Given the description of an element on the screen output the (x, y) to click on. 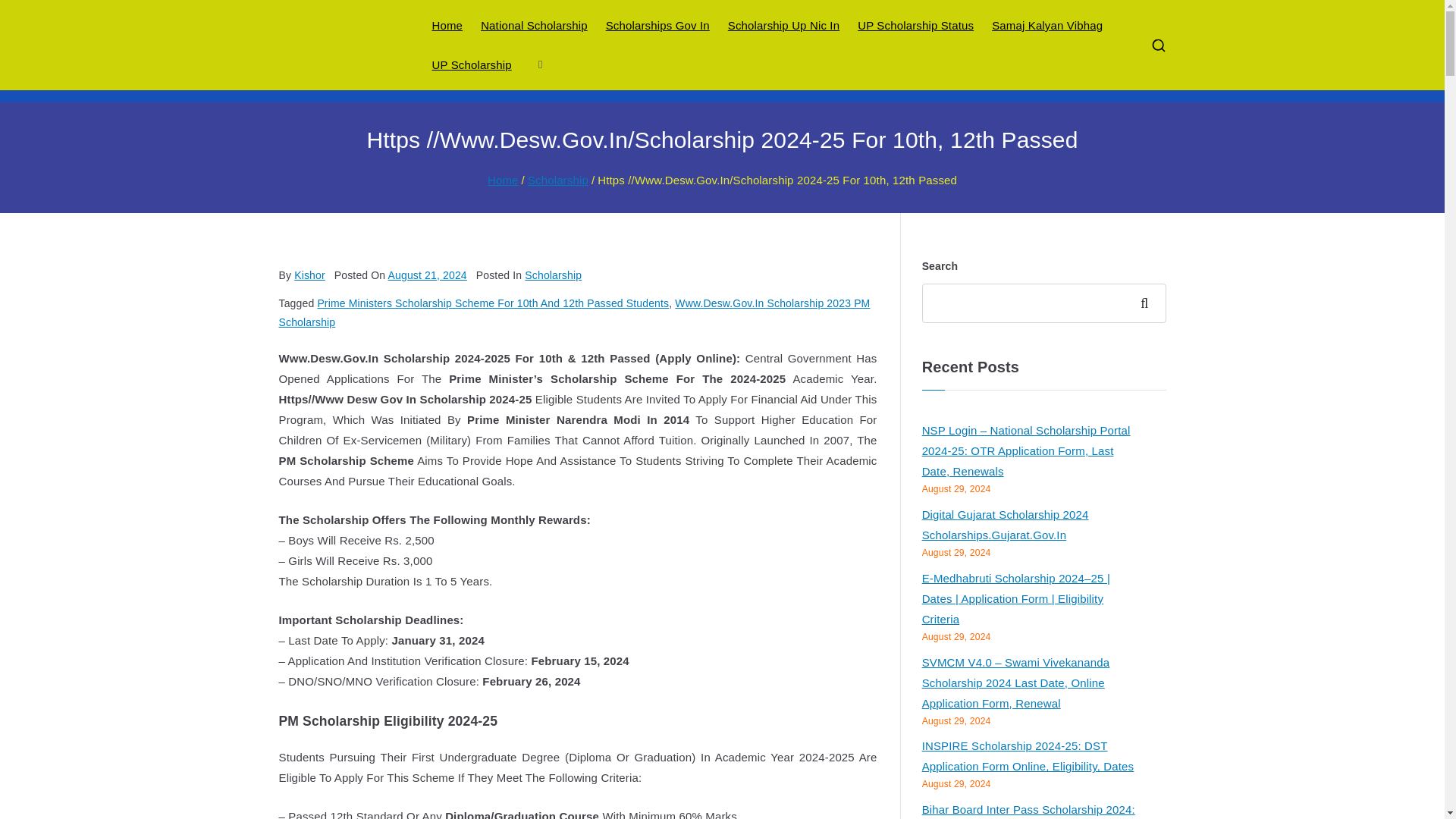
Search (25, 12)
Scholarship Up Nic In (784, 25)
UP Scholarship Status (915, 25)
August 21, 2024 (427, 275)
Home (447, 25)
National Scholarship (534, 25)
ScholarshipDunia (531, 64)
UP Scholarship (472, 64)
Scholarship (557, 179)
Kishor (309, 275)
